Given the description of an element on the screen output the (x, y) to click on. 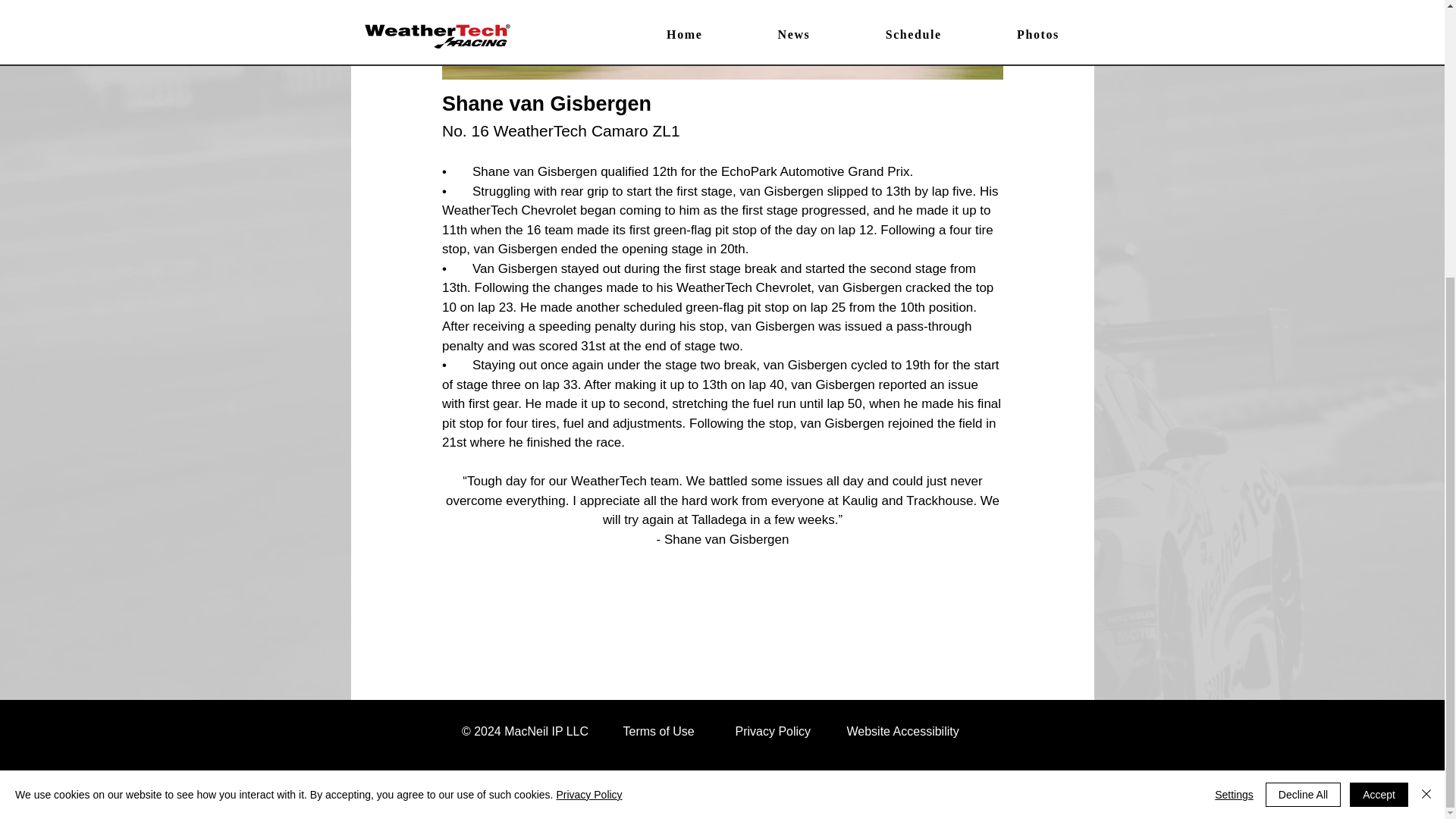
Terms of Use (658, 730)
Privacy Policy (772, 730)
Accept (1378, 383)
Website Accessibility (901, 730)
Decline All (1302, 383)
Privacy Policy (588, 383)
